Given the description of an element on the screen output the (x, y) to click on. 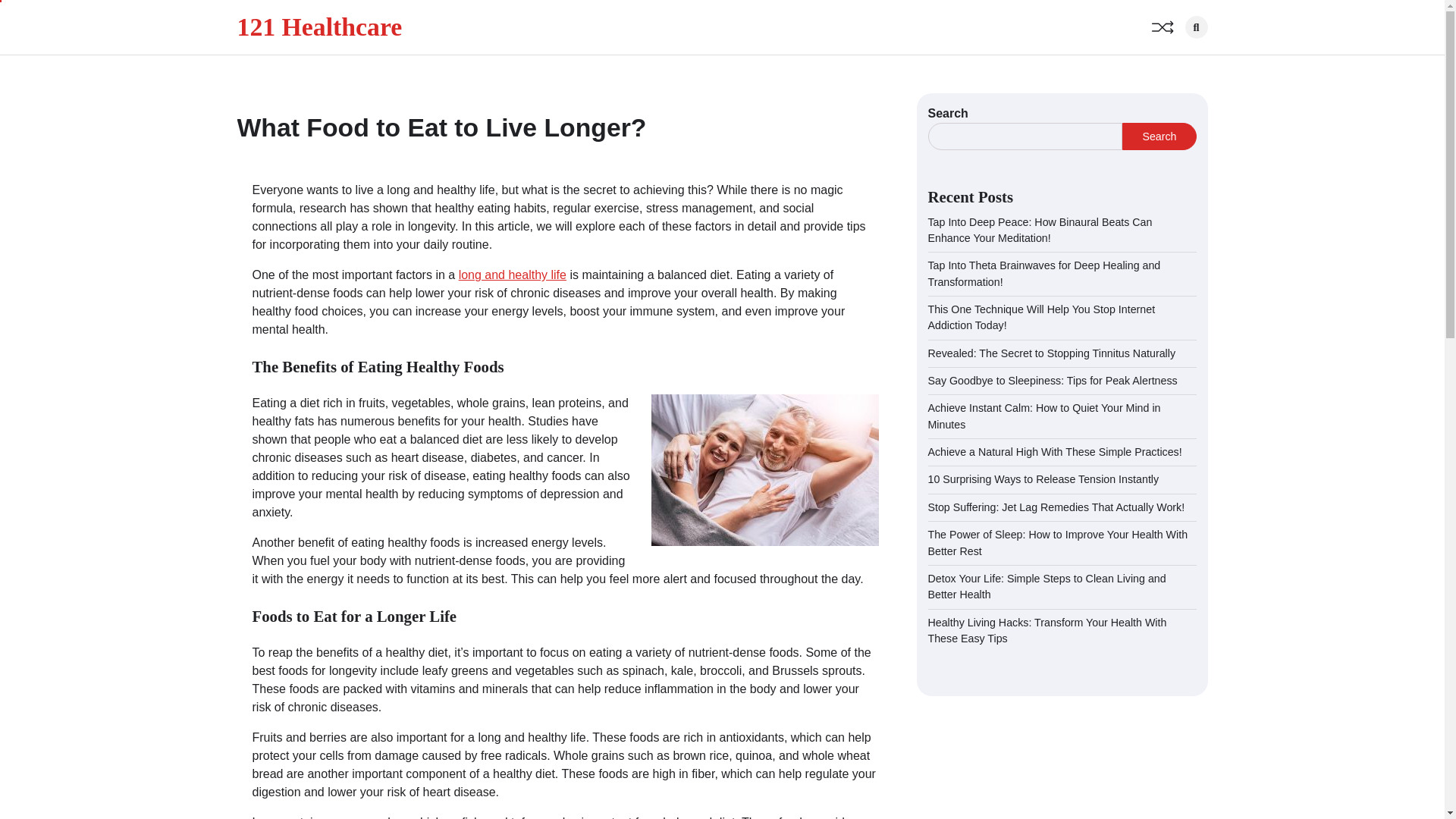
Search (1158, 135)
Search (1170, 59)
Achieve a Natural High With These Simple Practices! (1055, 451)
Achieve Instant Calm: How to Quiet Your Mind in Minutes (1044, 415)
121 Healthcare (318, 26)
long and healthy life (512, 274)
Search (1196, 26)
